Given the description of an element on the screen output the (x, y) to click on. 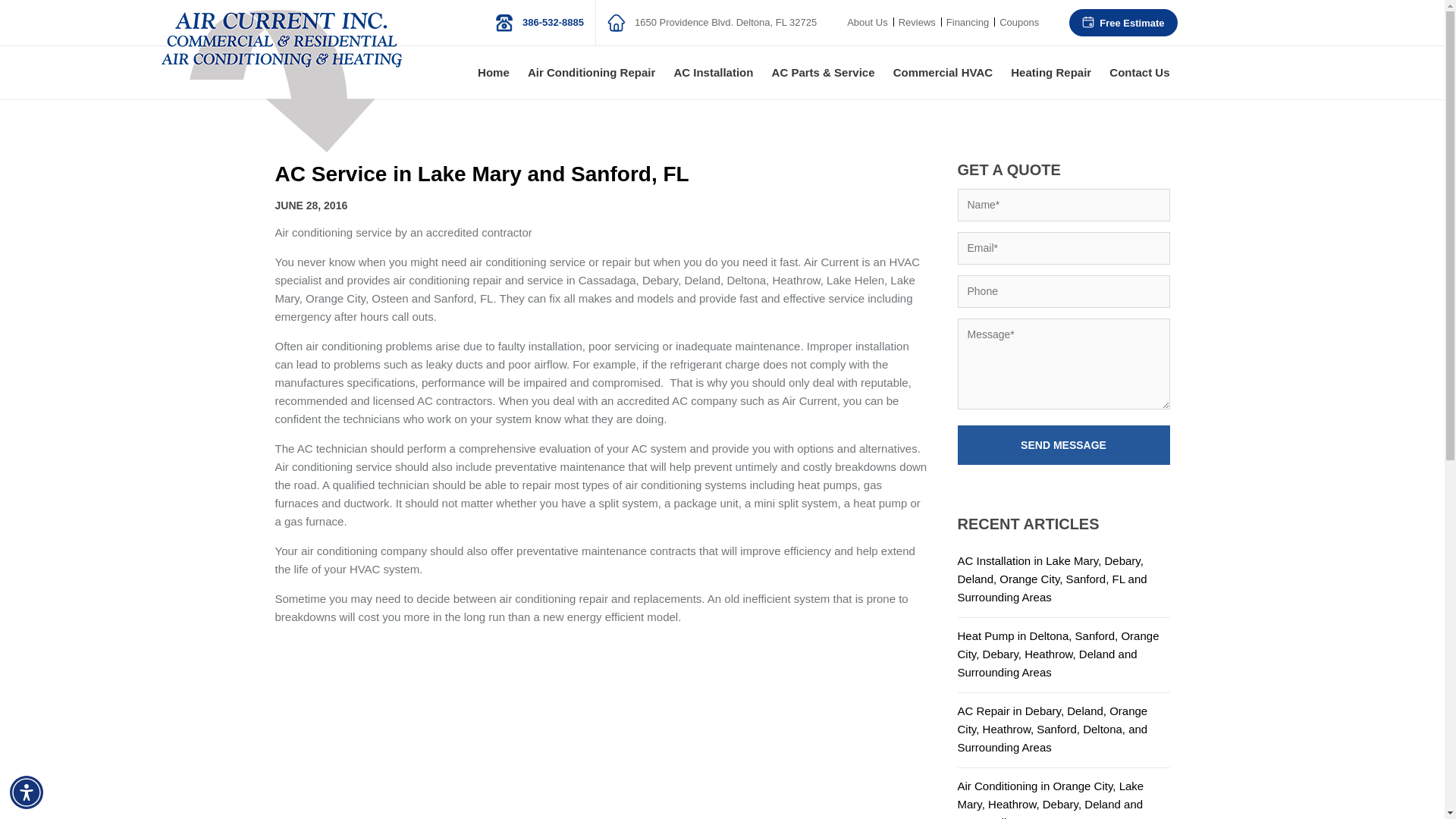
AC Installation (712, 72)
Financing (967, 21)
Air Conditioning Repair (590, 72)
Send Message (1062, 445)
About Us (866, 21)
Commercial HVAC (942, 72)
Reviews (916, 21)
Coupons (1018, 21)
Heating Repair (1051, 72)
Free Estimate (1122, 22)
386-532-8885 (539, 22)
